Given the description of an element on the screen output the (x, y) to click on. 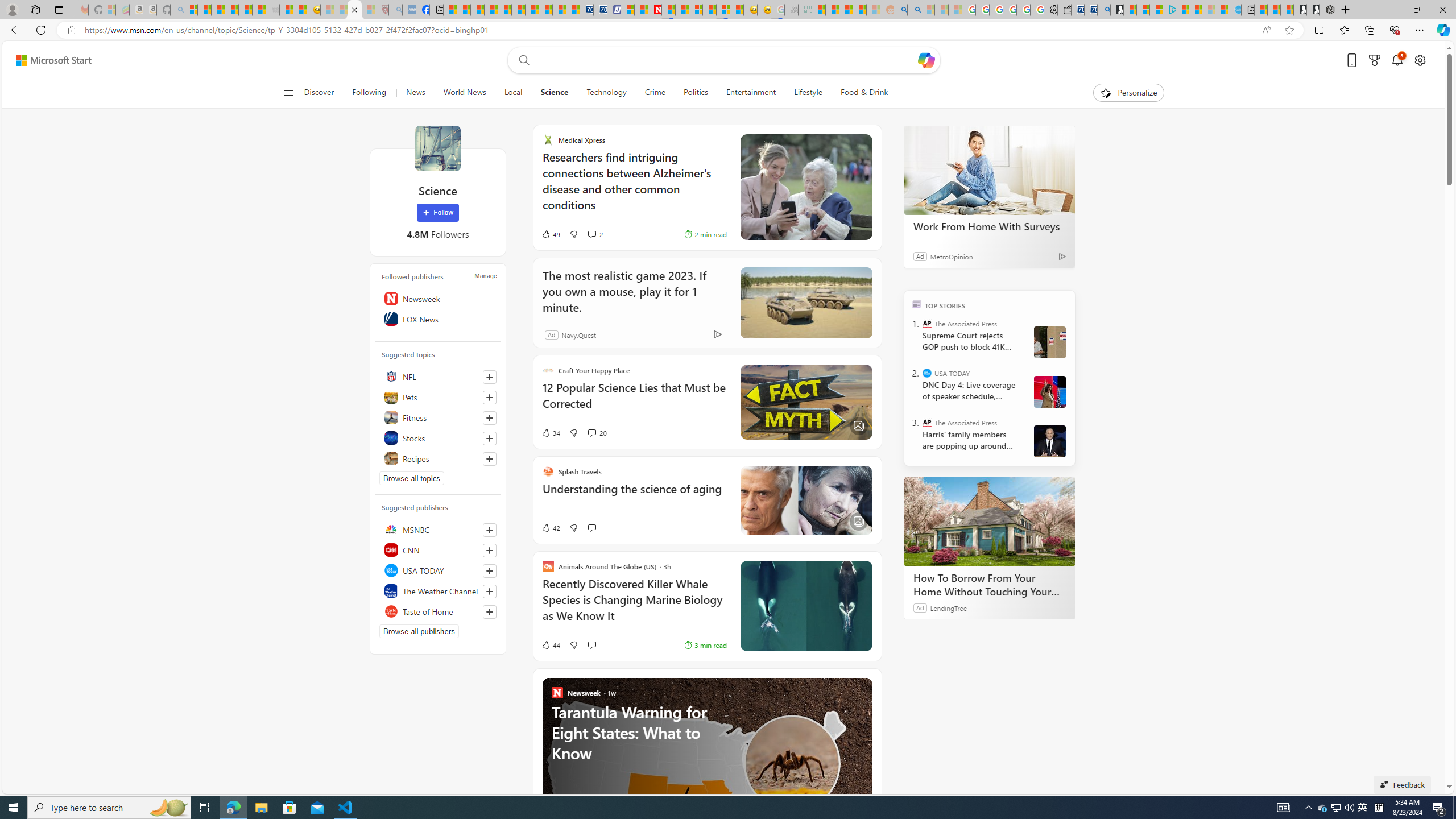
Latest Politics News & Archive | Newsweek.com (654, 9)
